Given the description of an element on the screen output the (x, y) to click on. 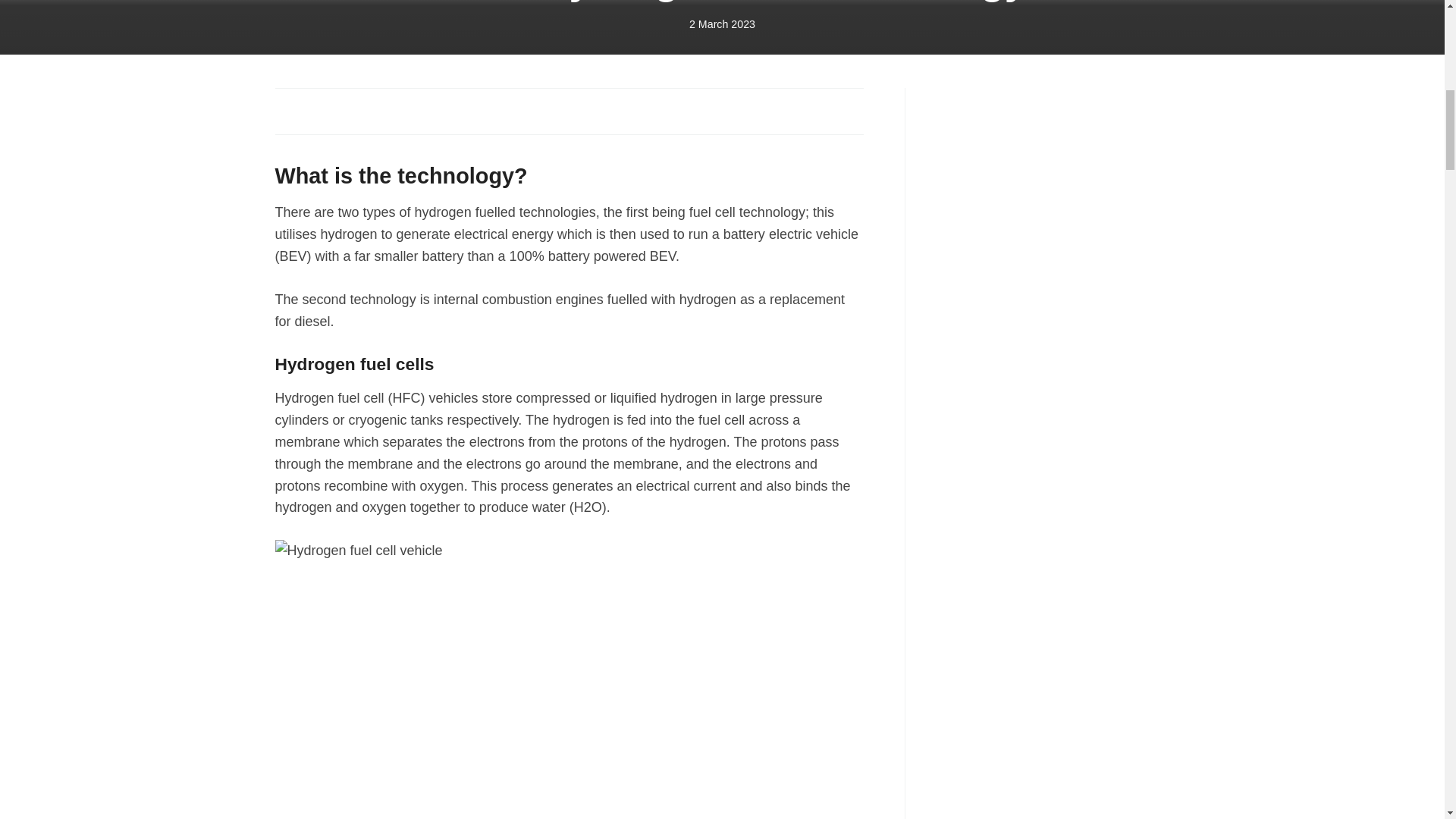
Share this on Twitter (322, 110)
Share this on Facebook (288, 110)
Share this on Linked in (356, 110)
Email this article (391, 110)
